Given the description of an element on the screen output the (x, y) to click on. 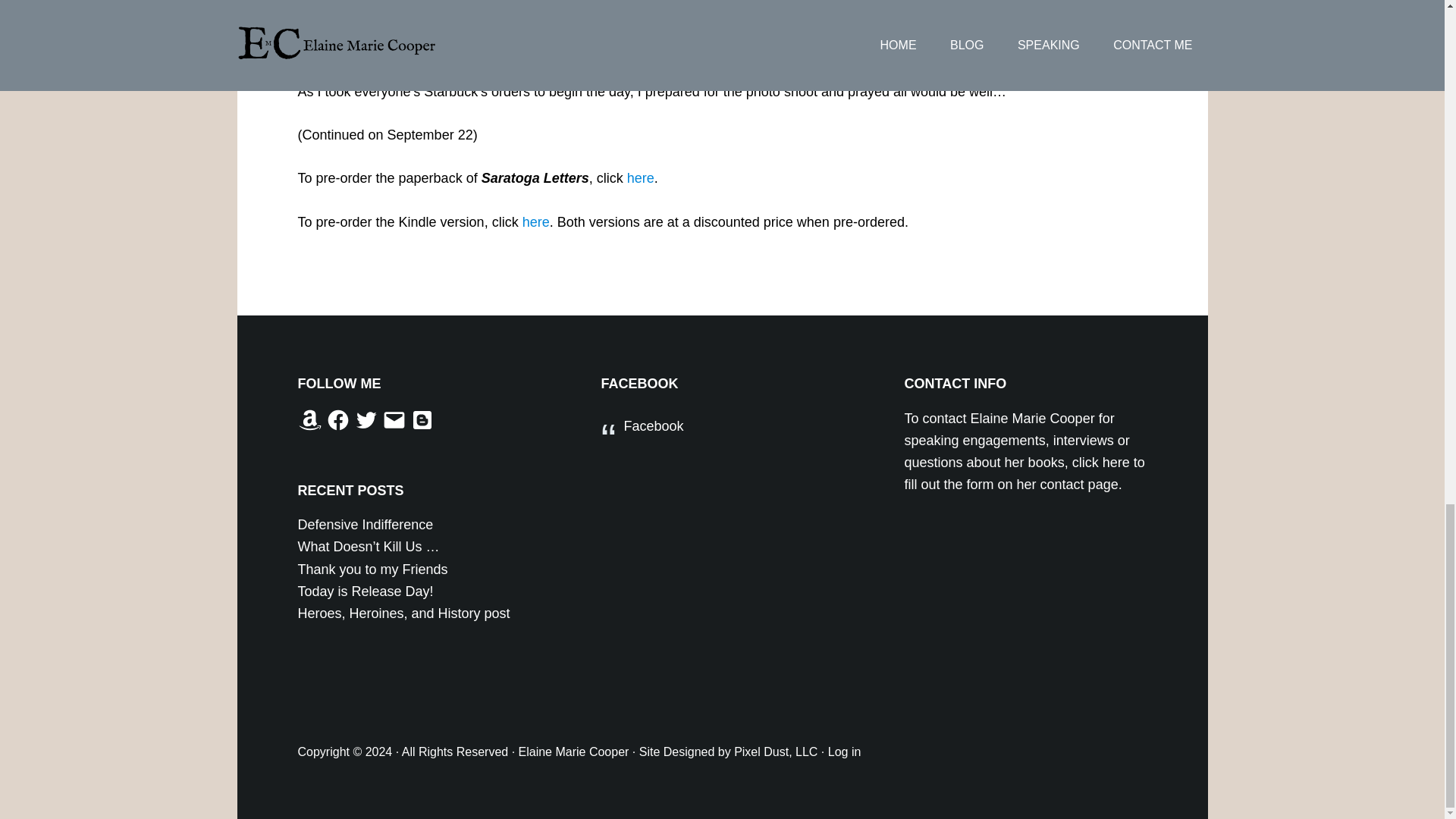
Email (393, 419)
Log in (844, 751)
FACEBOOK (638, 383)
click here (1100, 462)
Pixel Dust, LLC (774, 751)
Blogger (421, 419)
Thank you to my Friends (371, 569)
Amazon (309, 419)
Facebook (652, 426)
here (640, 177)
